Given the description of an element on the screen output the (x, y) to click on. 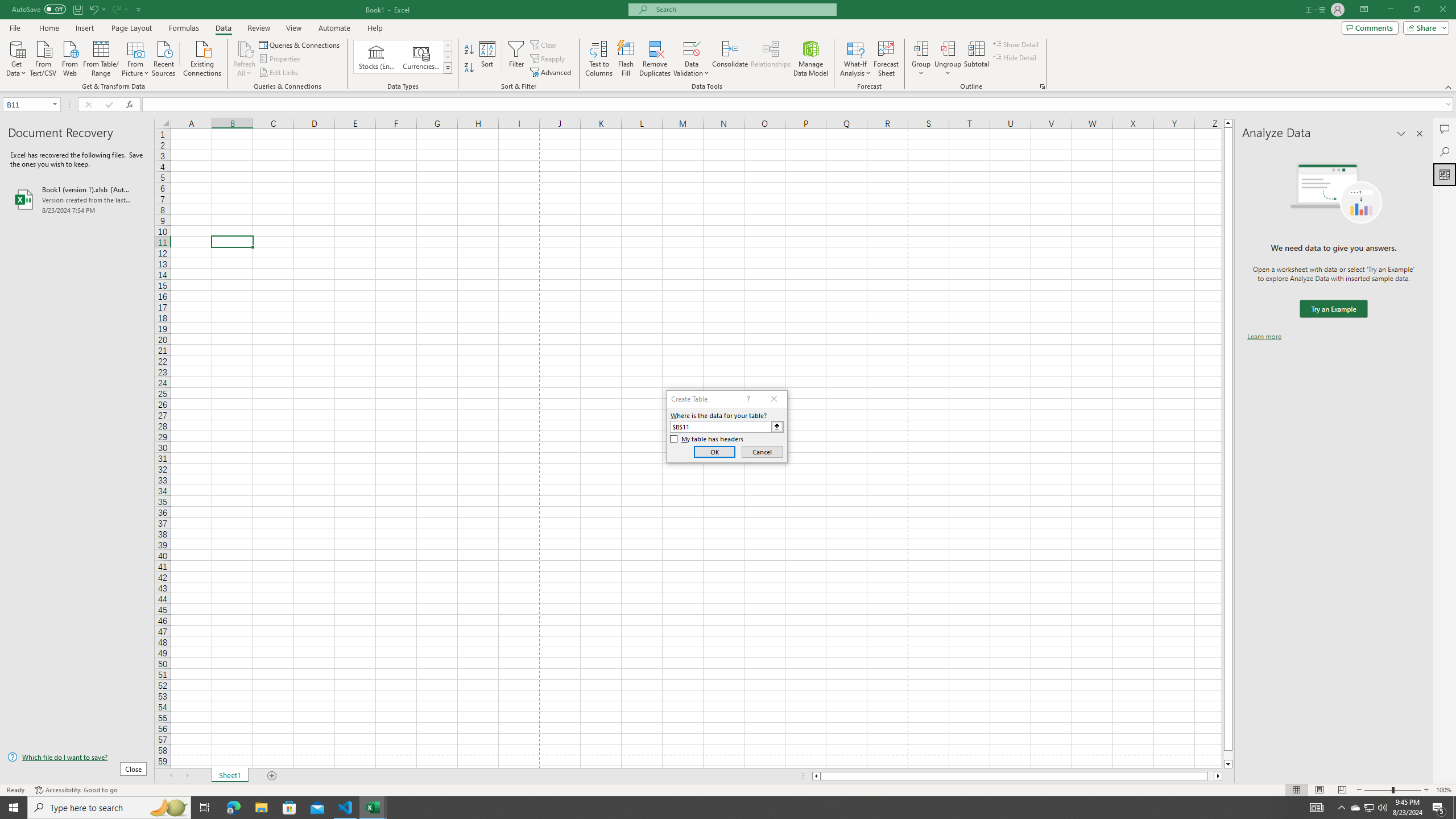
Consolidate... (729, 58)
Formulas (184, 28)
Text to Columns... (598, 58)
Which file do I want to save? (77, 757)
From Picture (135, 57)
Save (77, 9)
Share (1423, 27)
Scroll Right (187, 775)
Zoom (1392, 790)
Ribbon Display Options (1364, 9)
Search (1444, 151)
Sort... (487, 58)
AutomationID: ConvertToLinkedEntity (403, 56)
Name Box (27, 104)
